Given the description of an element on the screen output the (x, y) to click on. 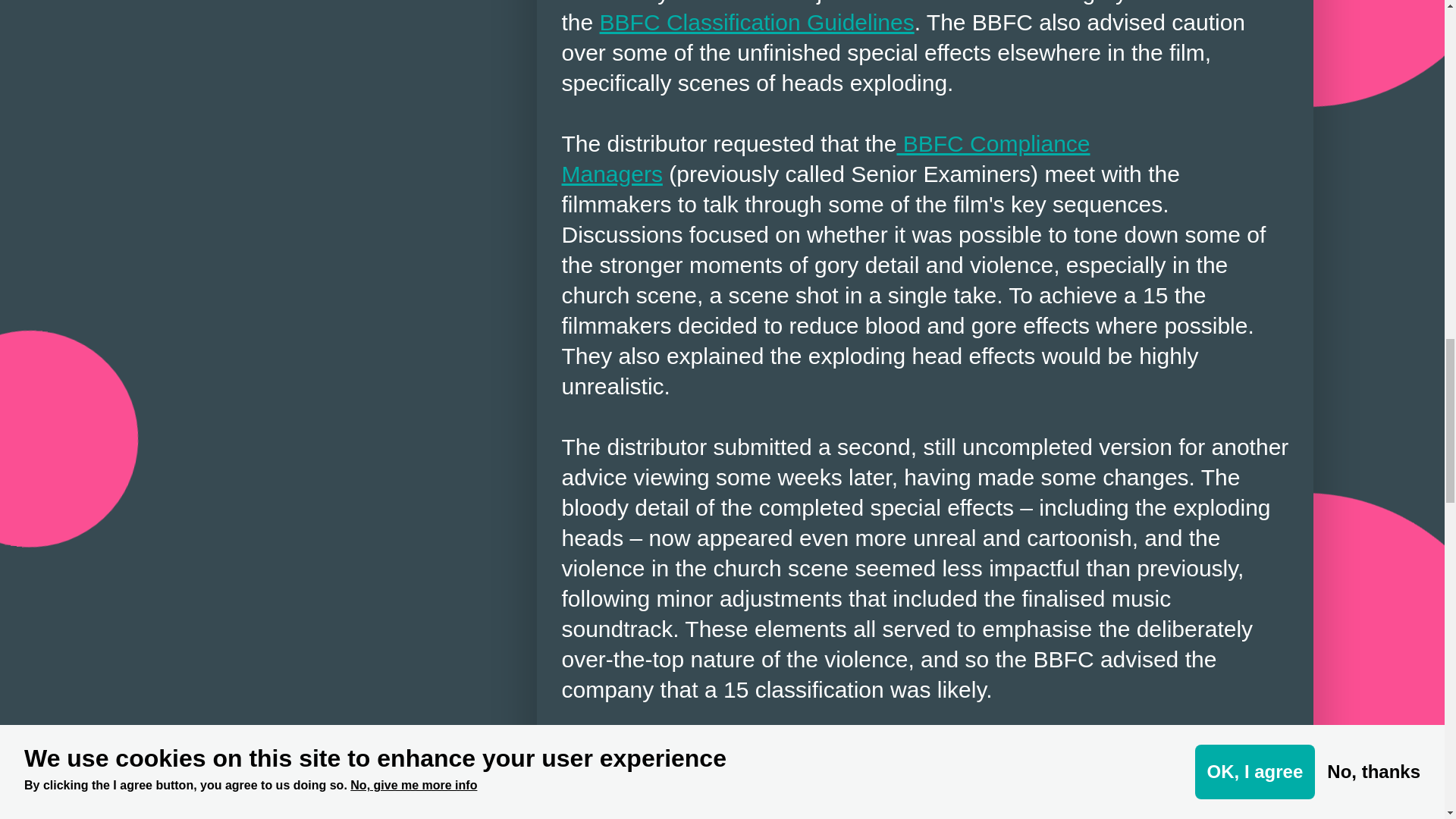
BBFC Classification Guidelines (756, 22)
 BBFC Compliance Managers (824, 158)
BBFCinsight (885, 808)
